Given the description of an element on the screen output the (x, y) to click on. 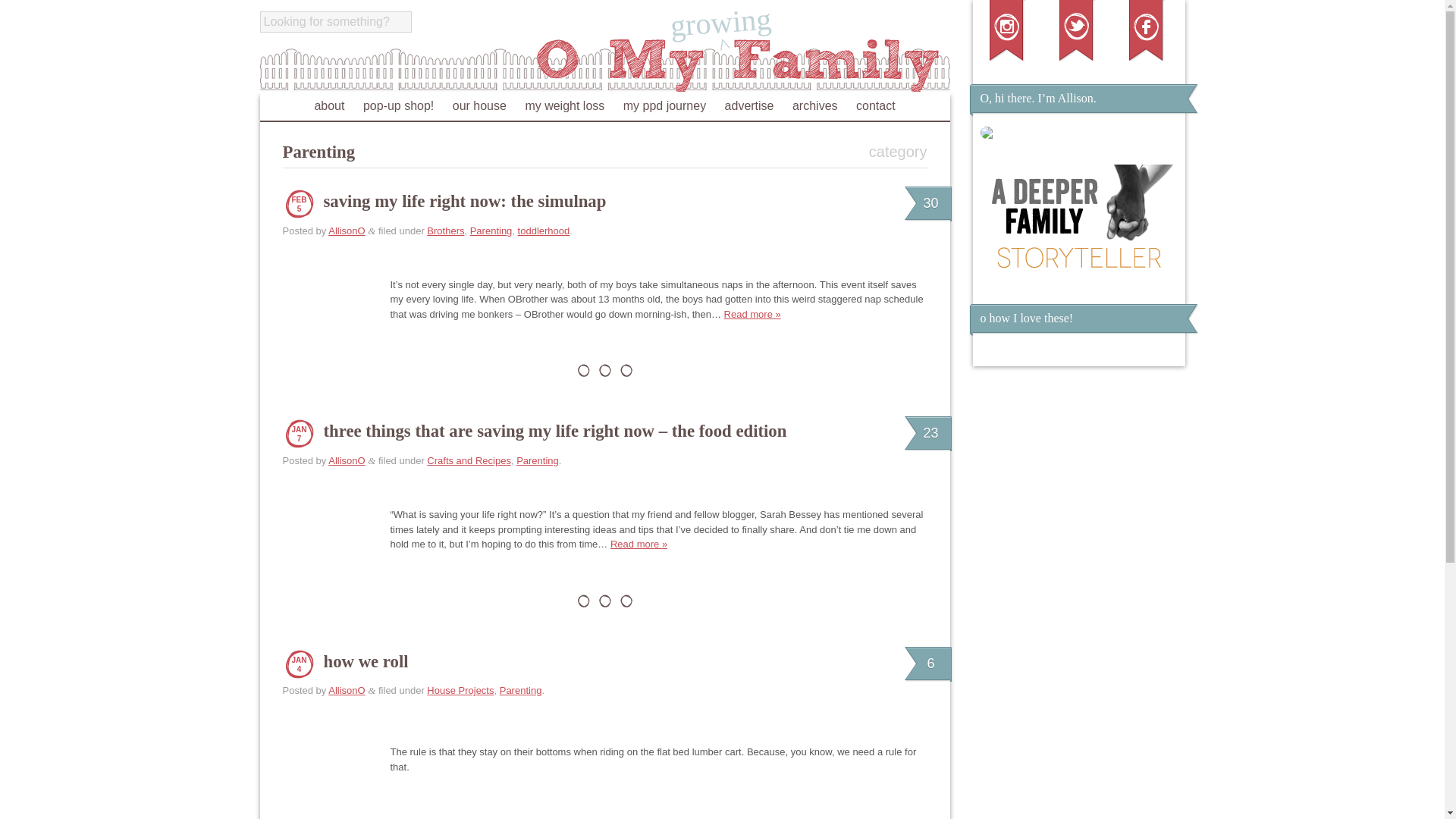
pop-up shop! (397, 105)
archives (815, 105)
Posts by AllisonO (347, 690)
Crafts and Recipes (468, 460)
how we roll (365, 660)
how we roll (365, 660)
my ppd journey (664, 105)
Read saving my life right now: the simulnap (751, 314)
advertise (749, 105)
AllisonO (347, 460)
